Given the description of an element on the screen output the (x, y) to click on. 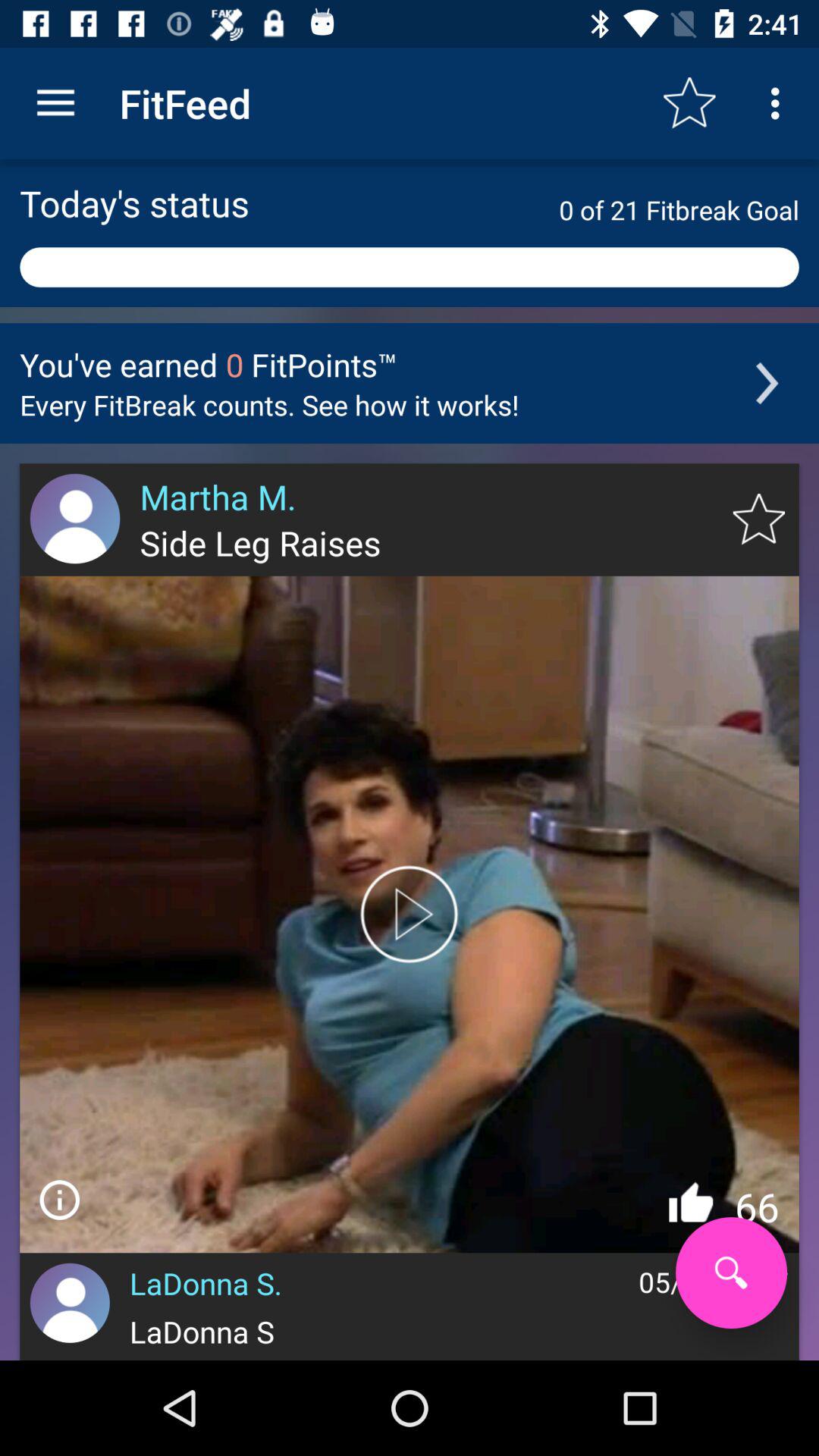
play the video (409, 914)
